Given the description of an element on the screen output the (x, y) to click on. 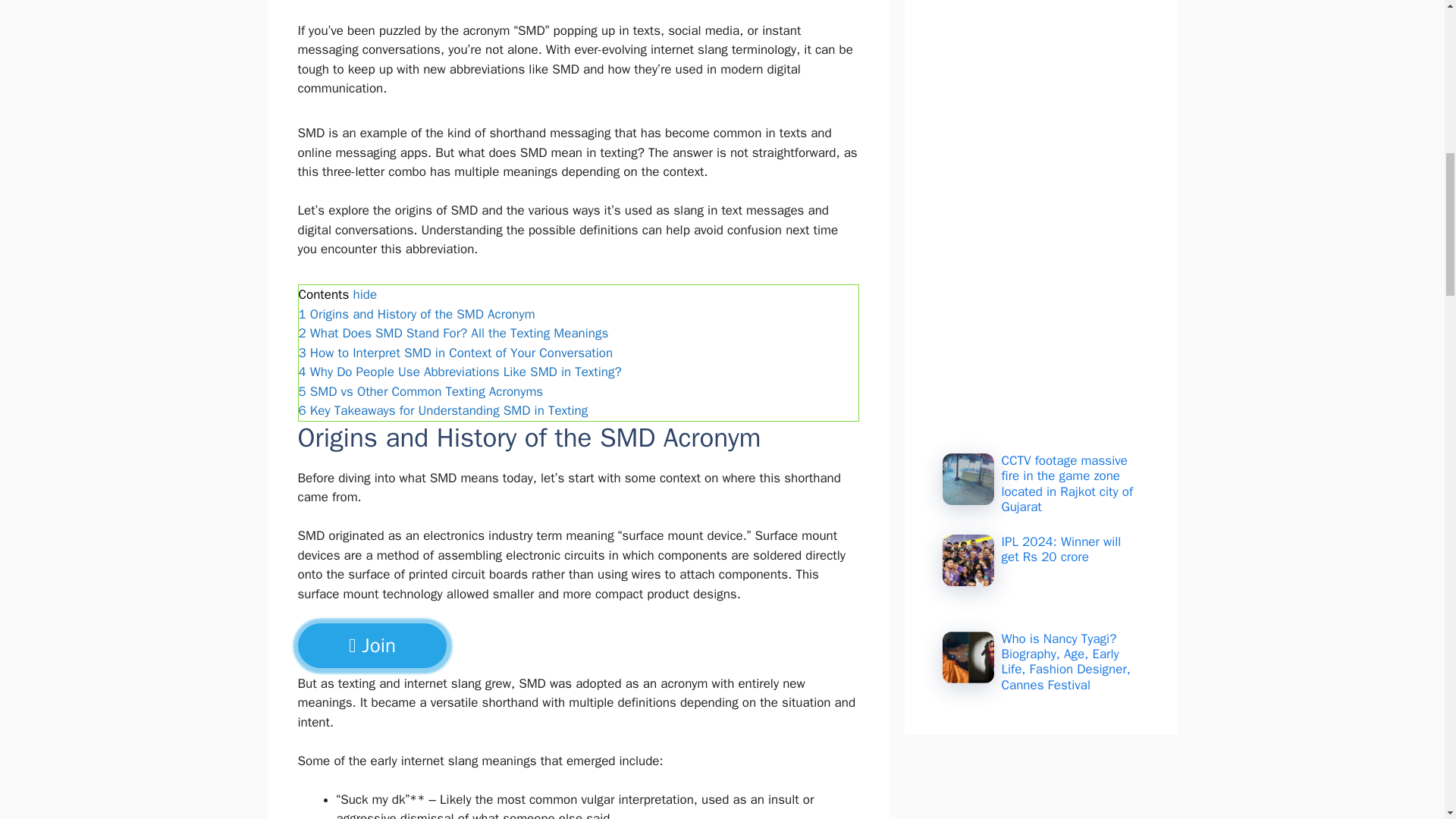
6 Key Takeaways for Understanding SMD in Texting (443, 410)
3 How to Interpret SMD in Context of Your Conversation (455, 352)
Advertisement (570, 7)
1 Origins and History of the SMD Acronym (416, 314)
5 SMD vs Other Common Texting Acronyms (420, 391)
2 What Does SMD Stand For? All the Texting Meanings (453, 333)
Join (371, 645)
4 Why Do People Use Abbreviations Like SMD in Texting? (459, 371)
hide (364, 294)
